Given the description of an element on the screen output the (x, y) to click on. 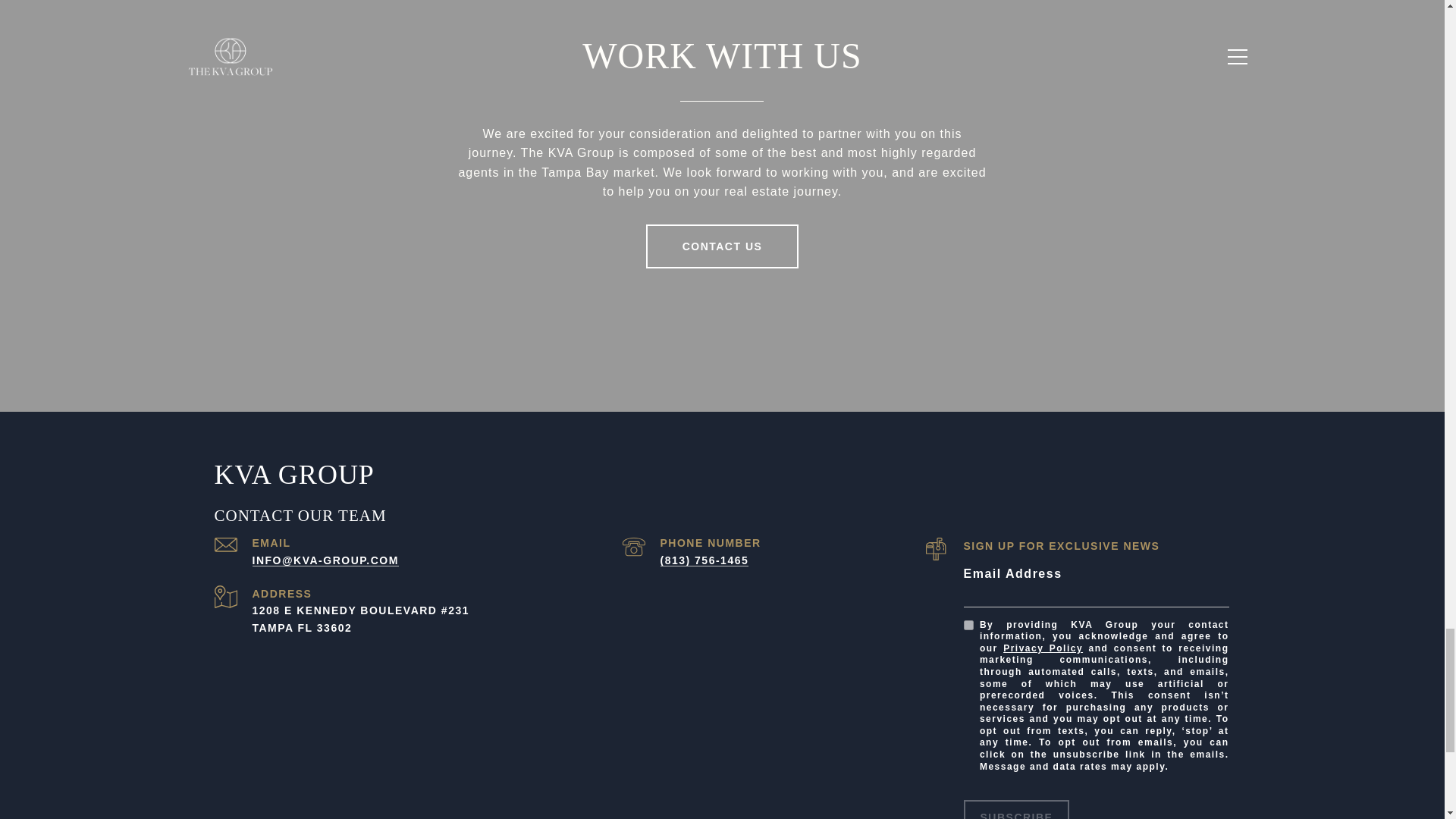
on (967, 624)
